Given the description of an element on the screen output the (x, y) to click on. 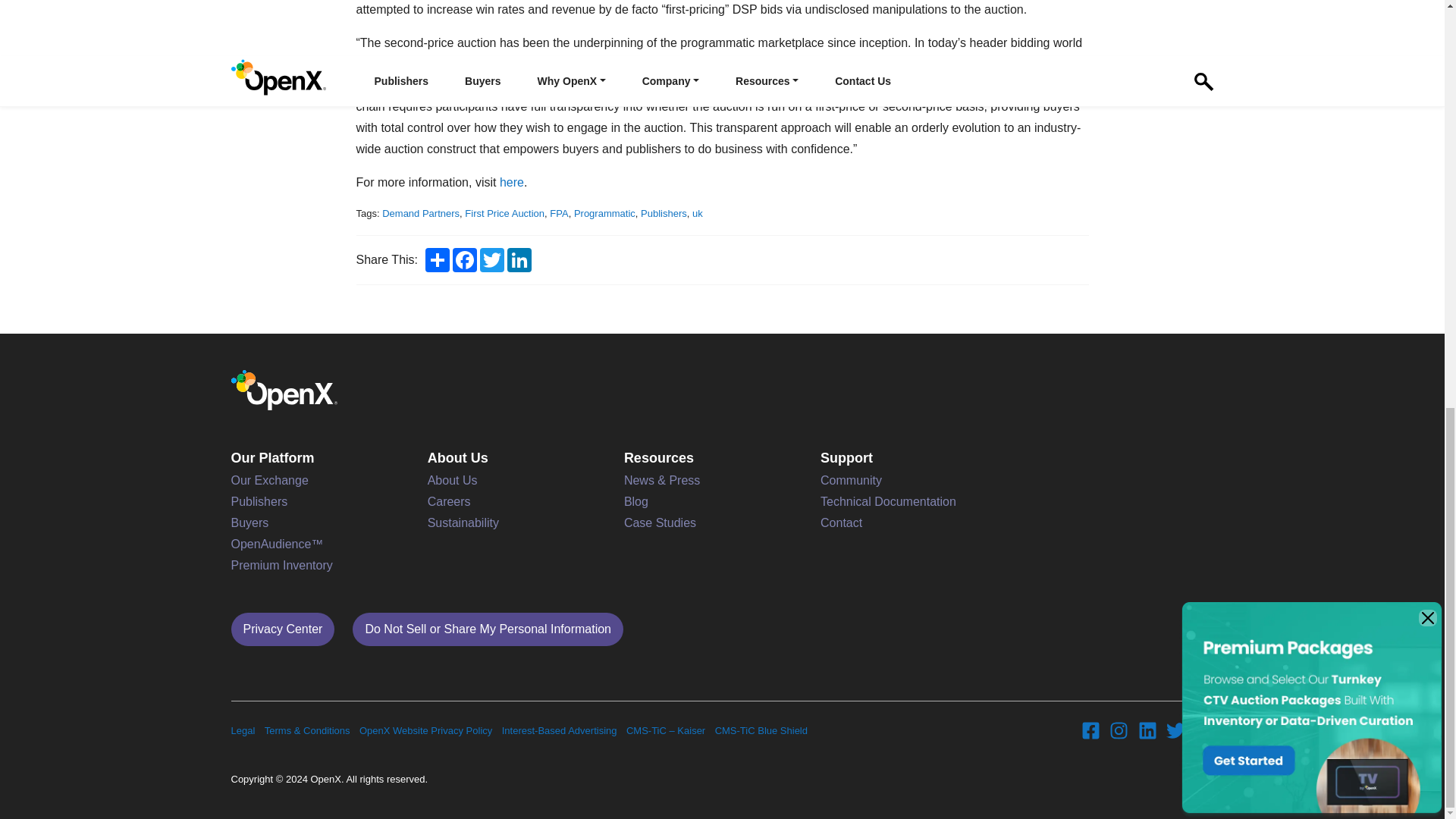
here (511, 182)
FPA (558, 213)
Publishers (663, 213)
Share (437, 259)
Demand Partners (420, 213)
uk (698, 213)
First Price Auction (504, 213)
Facebook (465, 259)
LinkedIn (518, 259)
Twitter (492, 259)
Programmatic (603, 213)
